Given the description of an element on the screen output the (x, y) to click on. 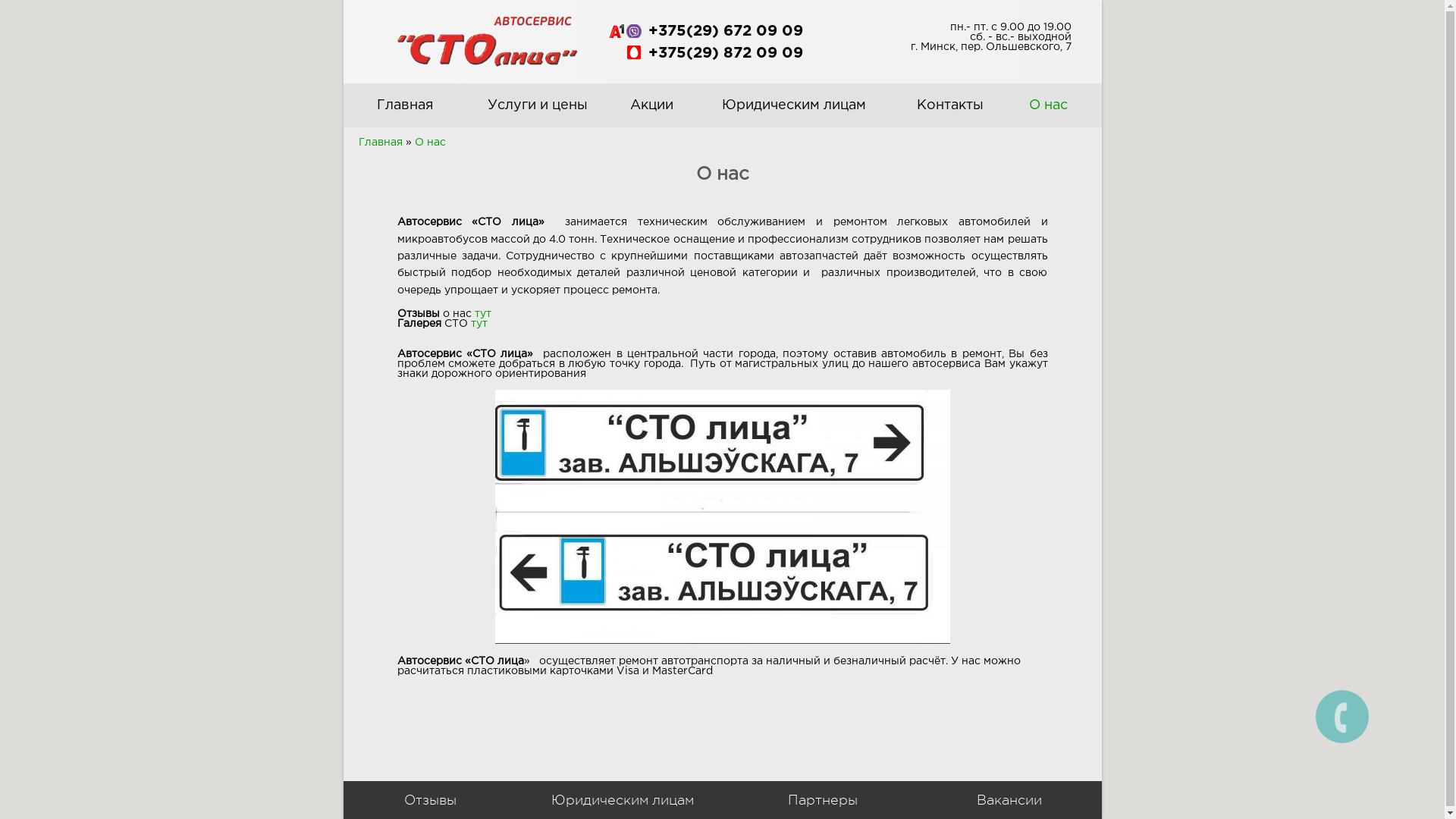
+375(29) 872 09 09 Element type: text (724, 52)
+375(29) 672 09 09 Element type: text (724, 30)
